Given the description of an element on the screen output the (x, y) to click on. 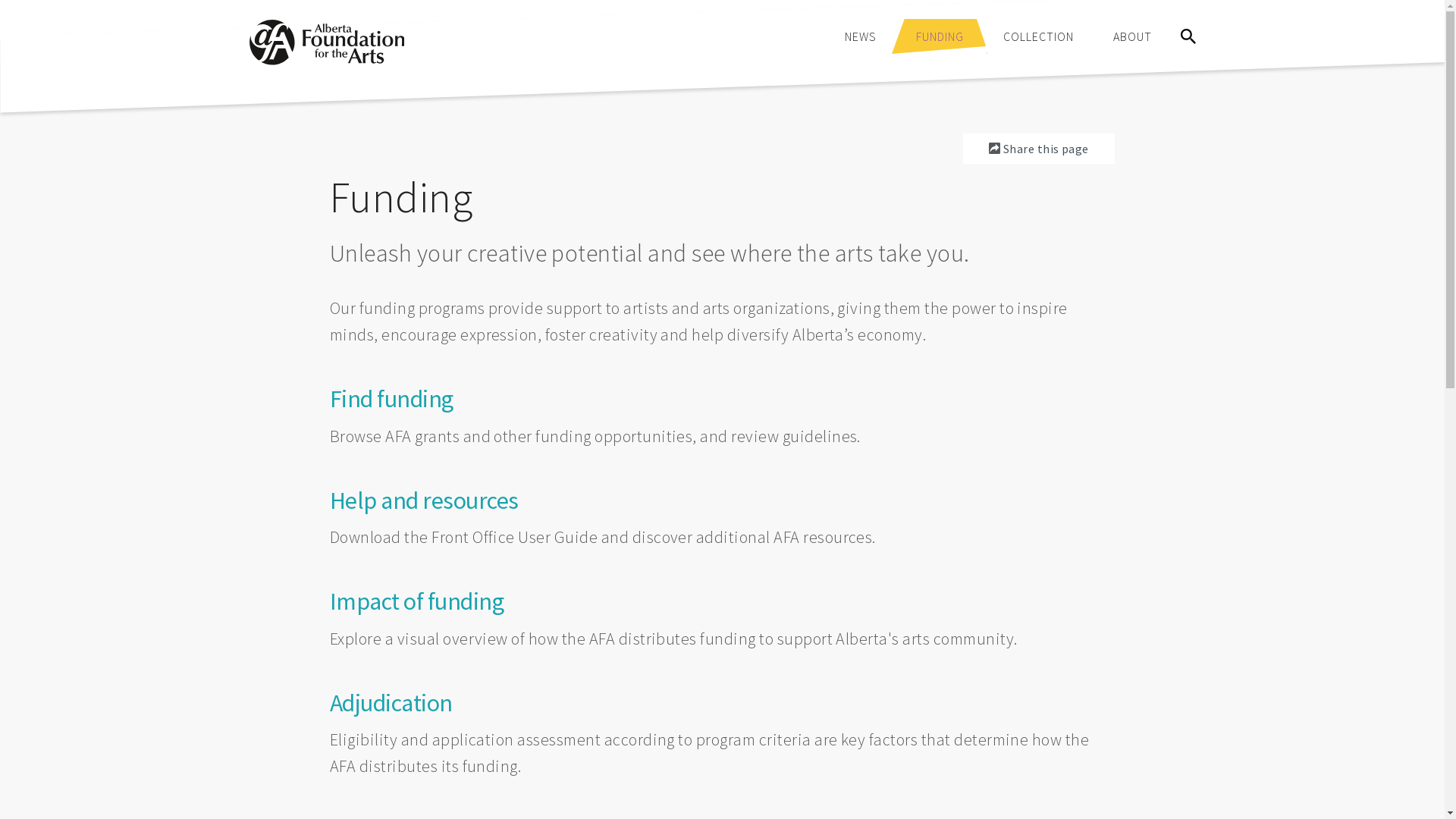
Adjudication Element type: text (390, 702)
Help and resources Element type: text (423, 500)
COLLECTION Element type: text (1037, 35)
NEWS Element type: text (860, 35)
Impact of funding Element type: text (416, 601)
Return to homepage Element type: text (326, 60)
FUNDING Element type: text (939, 35)
SEARCH Element type: text (1187, 35)
Find funding Element type: text (391, 398)
ABOUT Element type: text (1132, 35)
